Given the description of an element on the screen output the (x, y) to click on. 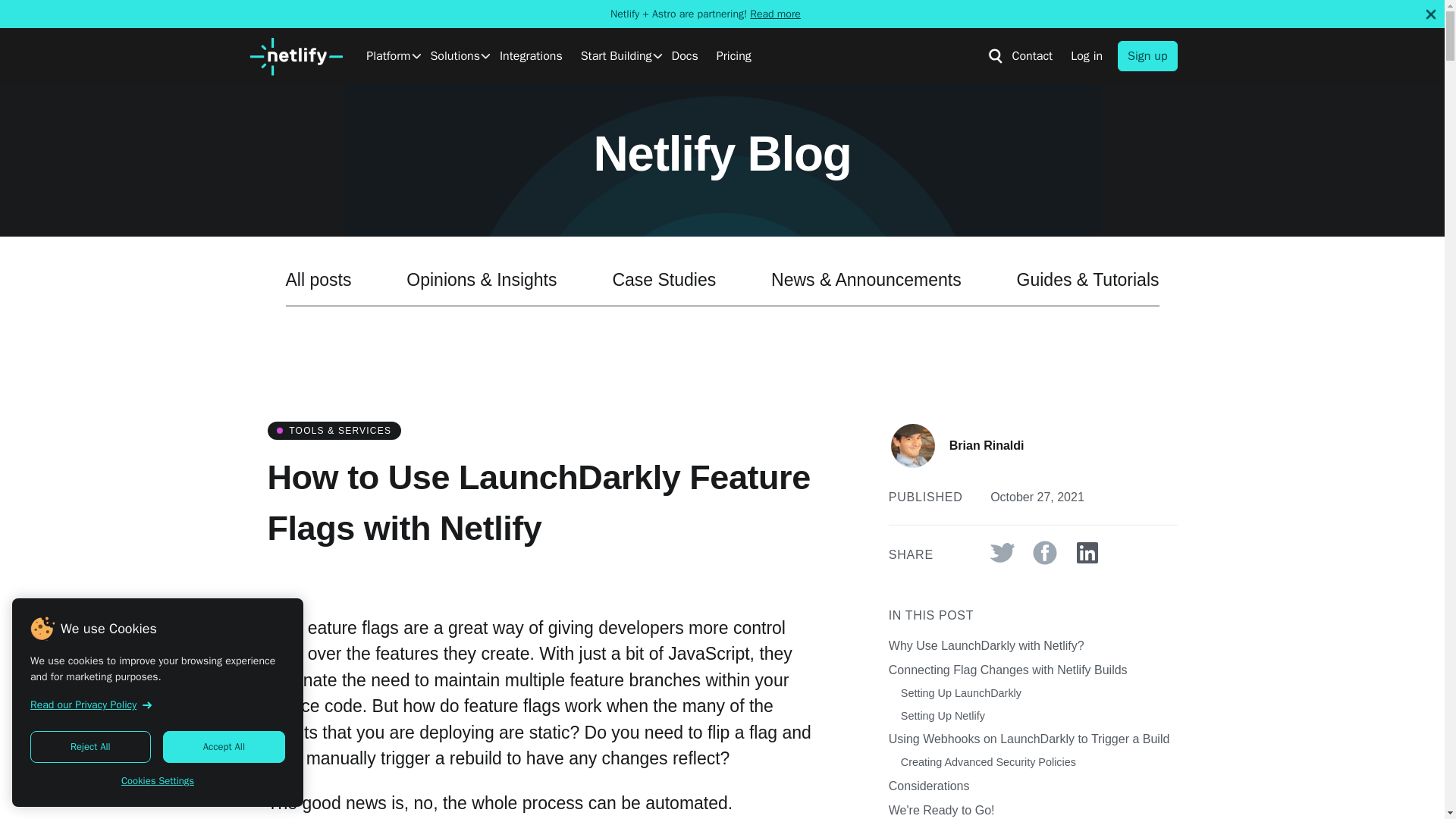
Close announcement bar (1430, 13)
Go to homepage (296, 56)
Integrations (531, 55)
Read more (774, 13)
